Given the description of an element on the screen output the (x, y) to click on. 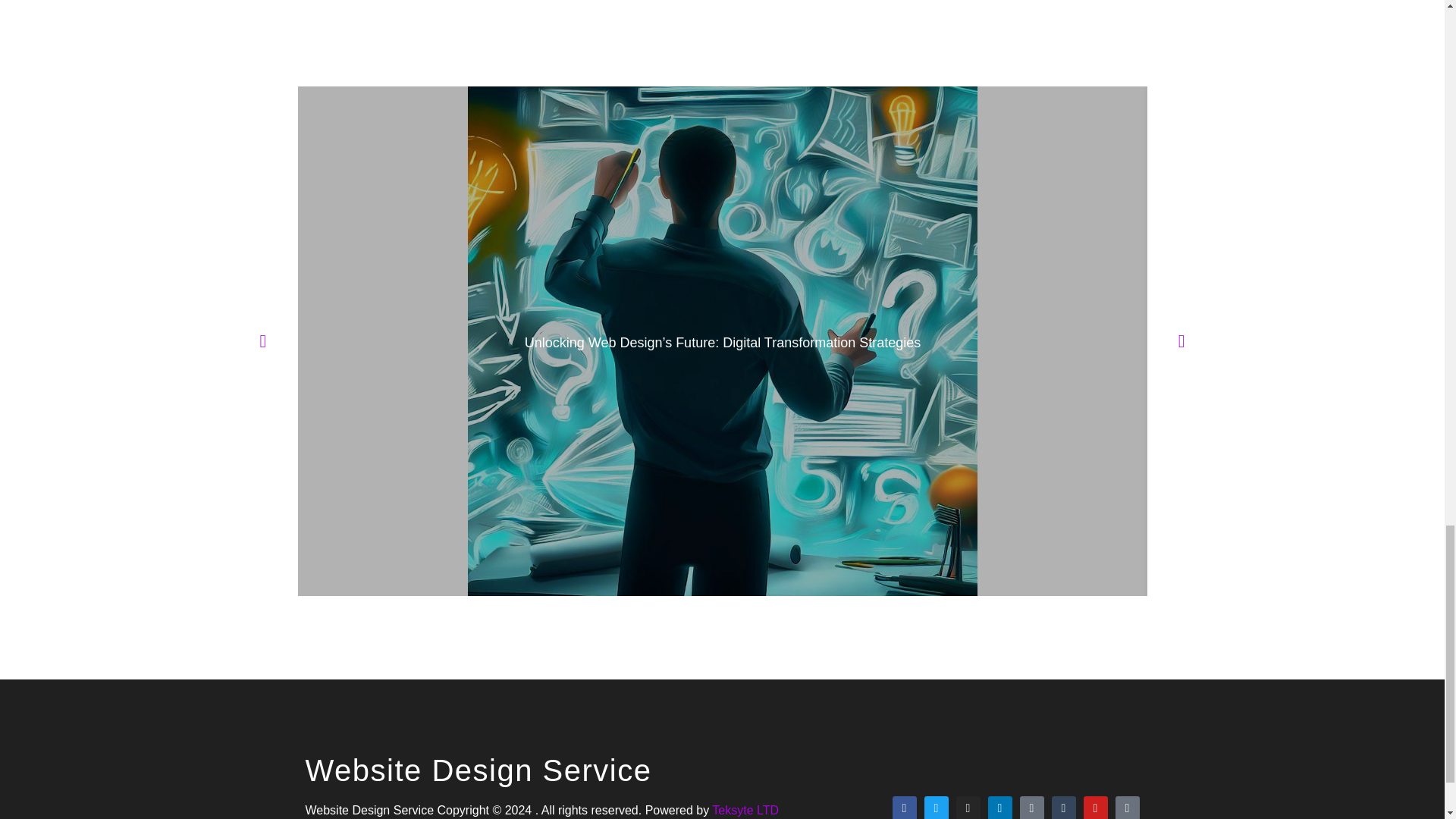
Teksyte LTD (744, 809)
